Given the description of an element on the screen output the (x, y) to click on. 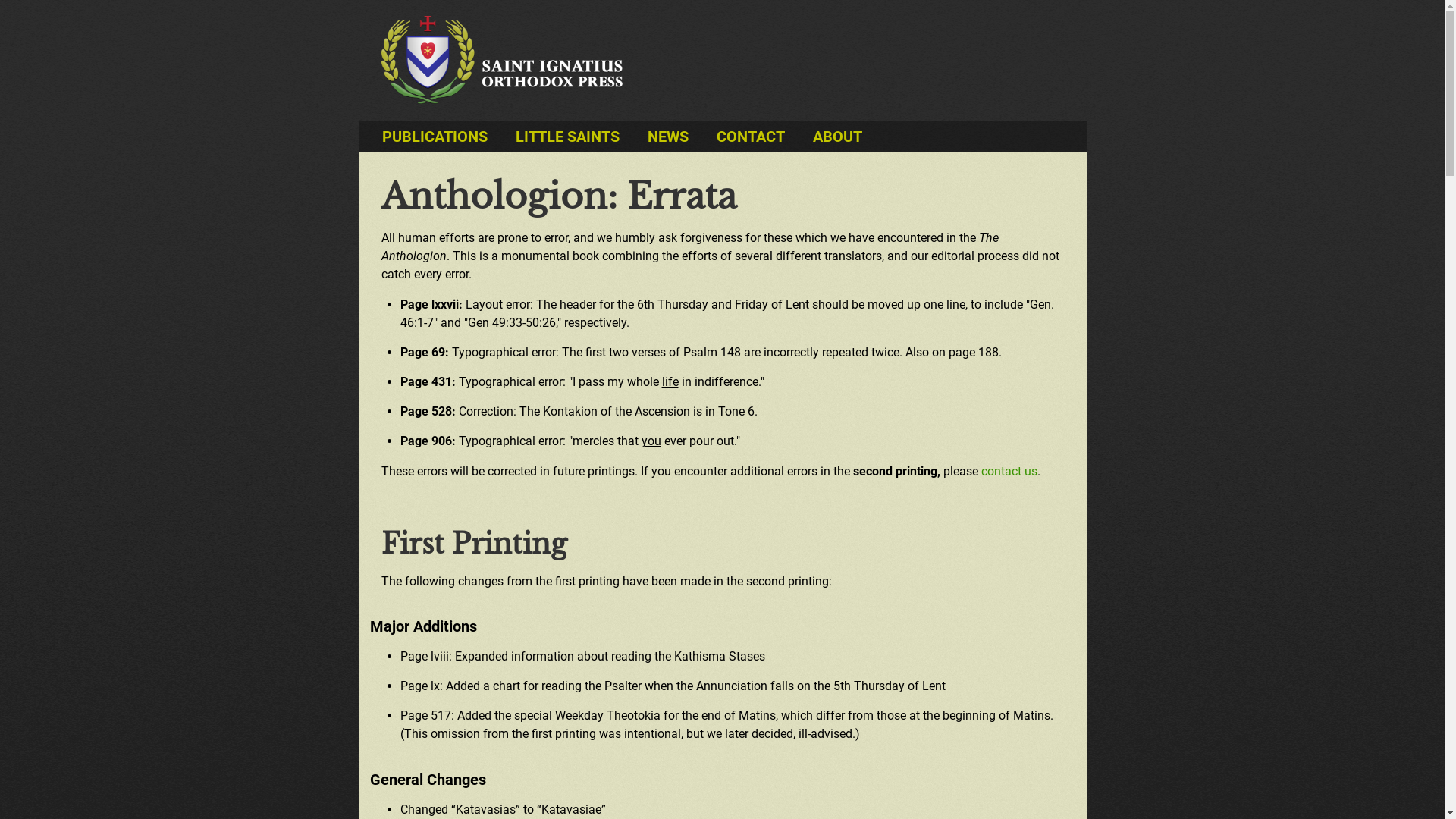
NEWS Element type: text (667, 136)
ABOUT Element type: text (837, 136)
Saint Ignatius Orthodox Press Element type: text (501, 59)
PUBLICATIONS Element type: text (434, 136)
contact us Element type: text (1009, 471)
CONTACT Element type: text (749, 136)
LITTLE SAINTS Element type: text (567, 136)
